Given the description of an element on the screen output the (x, y) to click on. 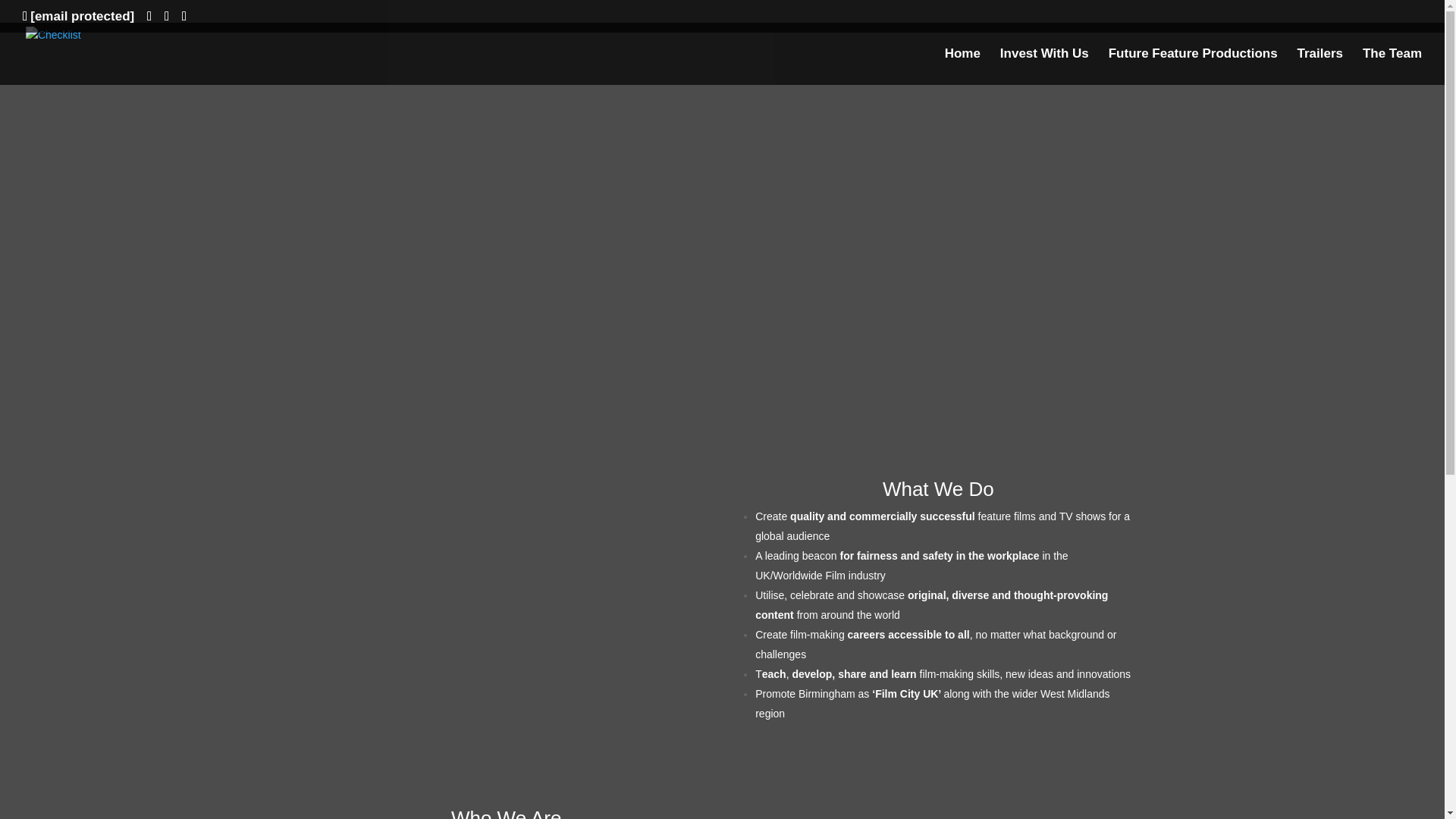
Future Feature Productions (1193, 66)
Trailers (1320, 66)
Invest With Us (1044, 66)
The Team (1392, 66)
Home (961, 66)
